Given the description of an element on the screen output the (x, y) to click on. 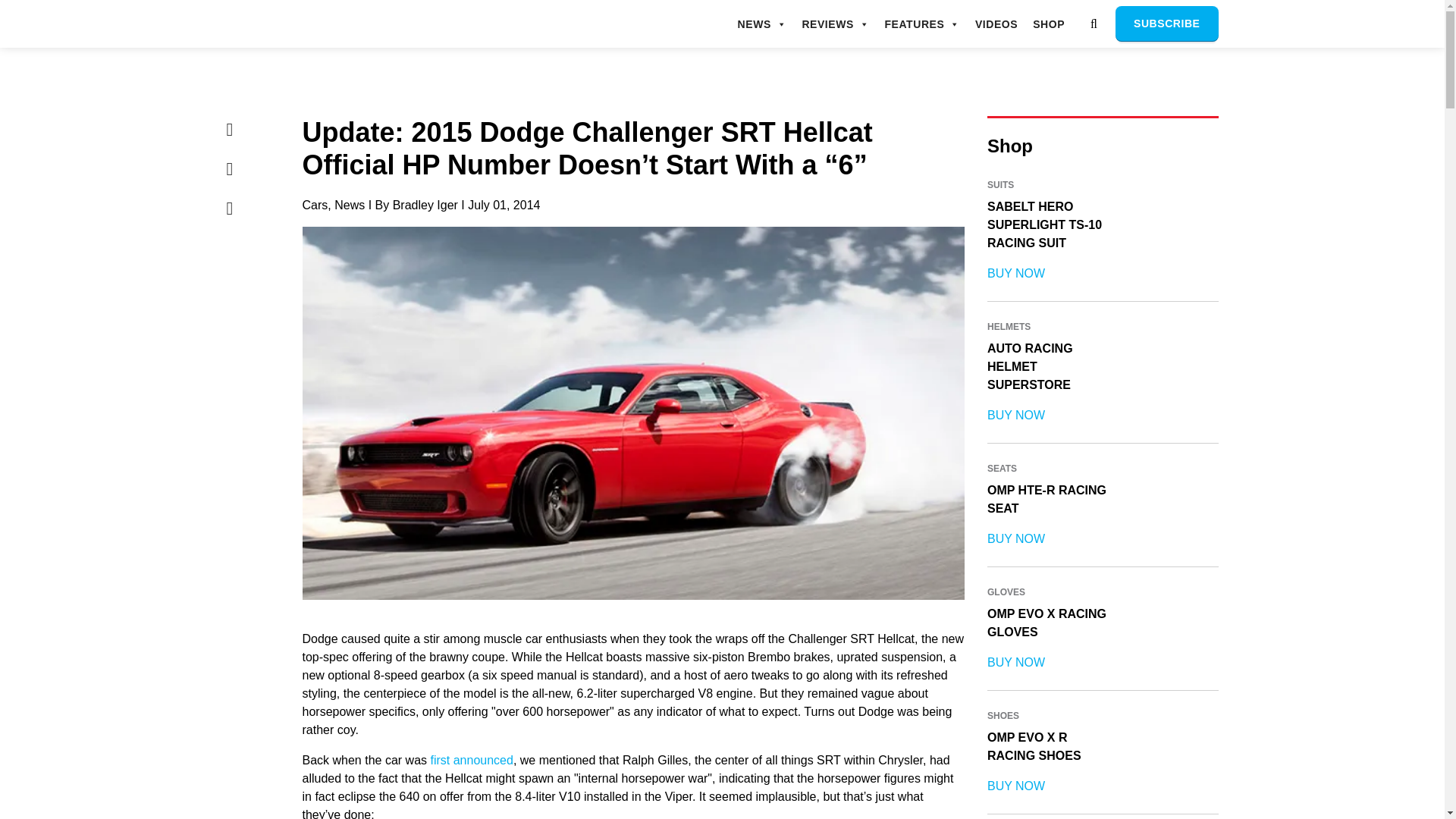
SABELT HERO SUPERLIGHT TS-10 RACING SUIT (1044, 224)
first announced (470, 759)
SUBSCRIBE (1166, 23)
News (349, 205)
BUY NOW (1016, 273)
REVIEWS (835, 24)
VIDEOS (996, 24)
Cars (314, 205)
FEATURES (921, 24)
SHOP (1048, 24)
